Given the description of an element on the screen output the (x, y) to click on. 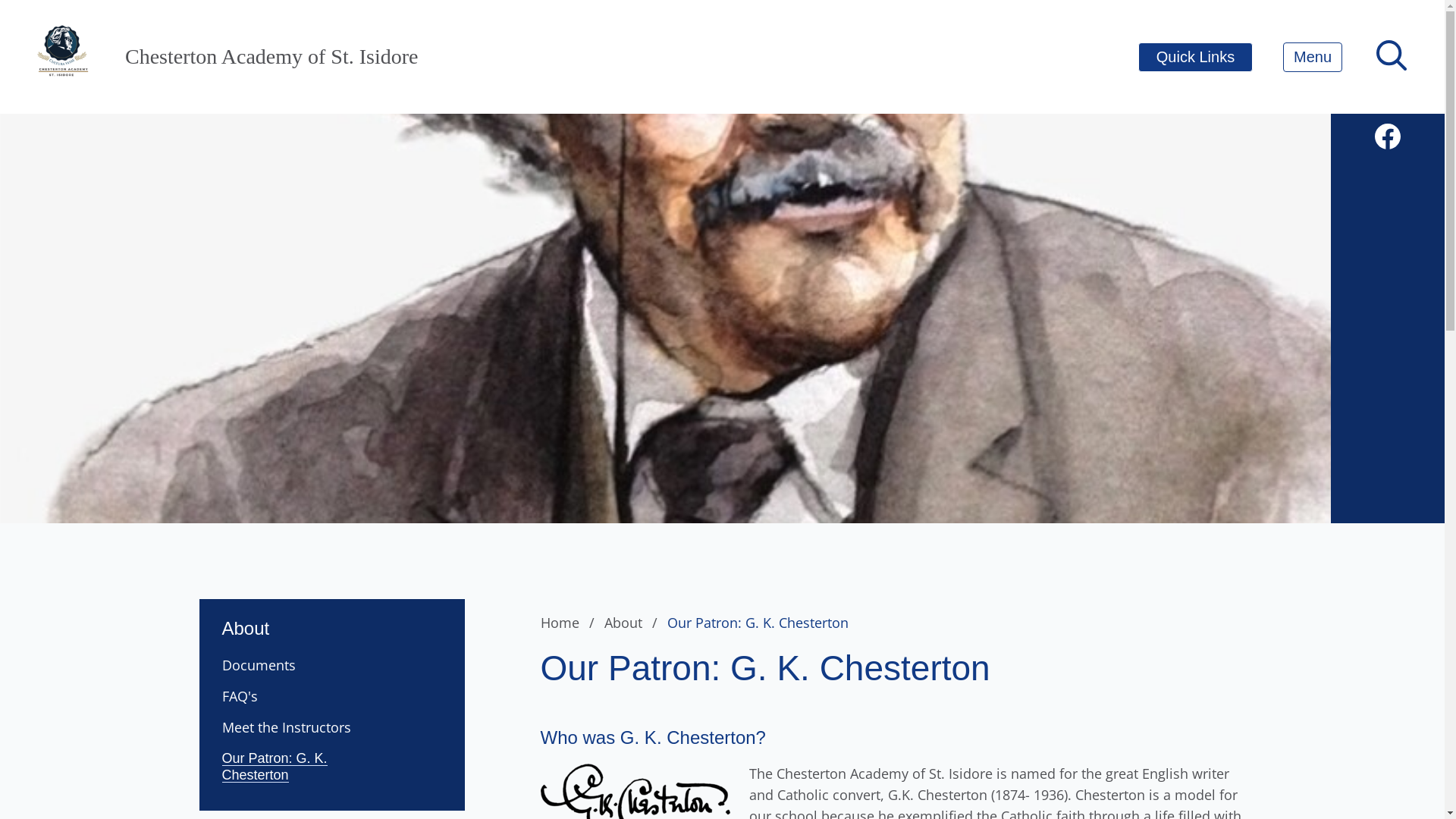
FAQ's Element type: text (287, 695)
Chesterton Academy of St. Isidore's Facebook Element type: hover (1387, 136)
Our Patron: G. K. Chesterton Element type: text (287, 766)
Menu Element type: text (1312, 57)
About Element type: text (632, 622)
About Element type: text (331, 619)
Home Element type: text (569, 622)
home Element type: hover (64, 56)
Documents Element type: text (287, 664)
Quick Links Element type: text (1195, 57)
Search Element type: text (44, 19)
Meet the Instructors Element type: text (287, 726)
